Given the description of an element on the screen output the (x, y) to click on. 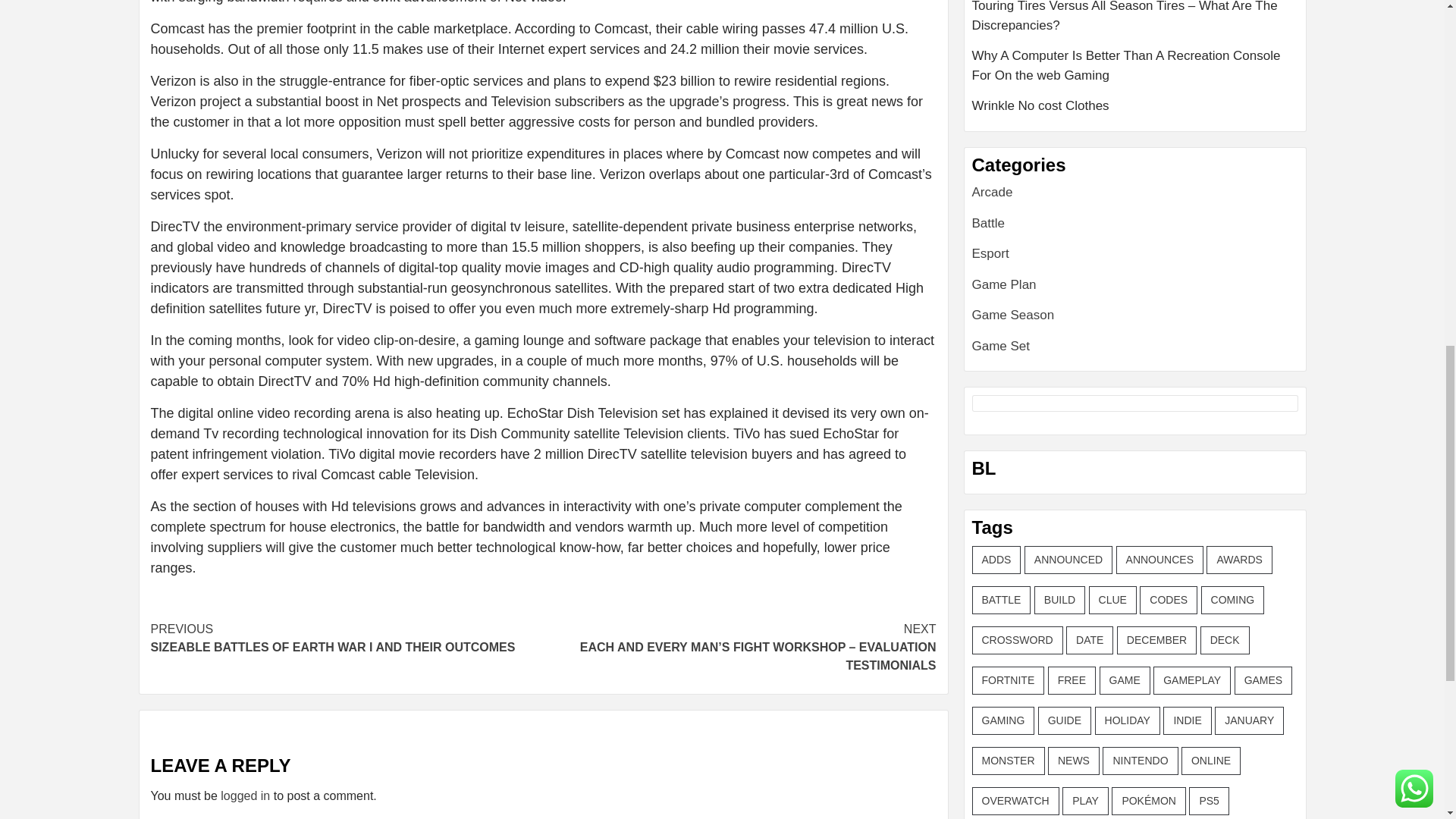
logged in (245, 795)
